Given the description of an element on the screen output the (x, y) to click on. 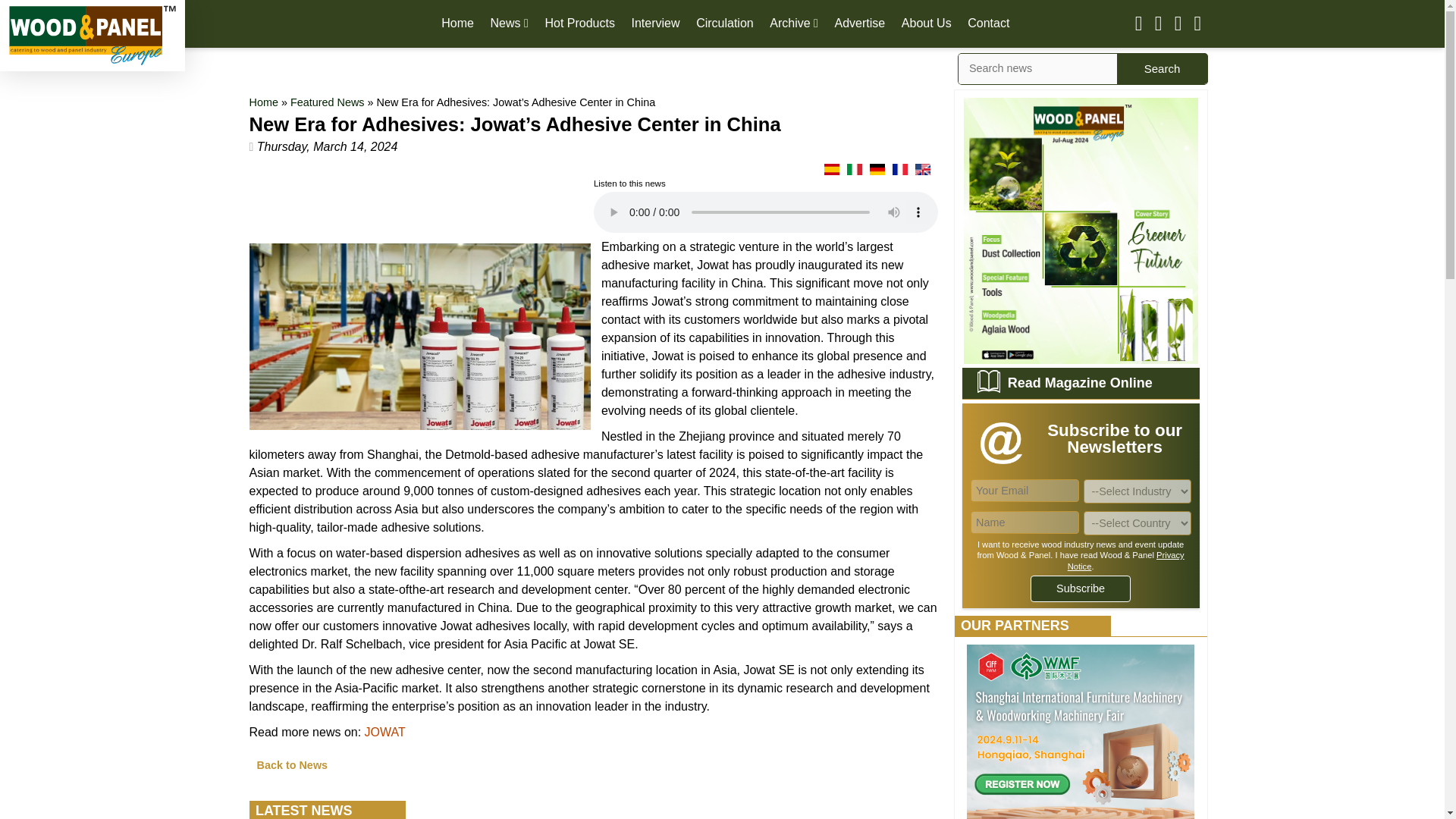
Circulation (724, 22)
Archive (794, 22)
About Us (926, 22)
News (509, 22)
Interview (654, 22)
JOWAT  (385, 731)
Hot Products (579, 22)
Featured News (327, 102)
Advertise (859, 22)
Home (263, 102)
